Given the description of an element on the screen output the (x, y) to click on. 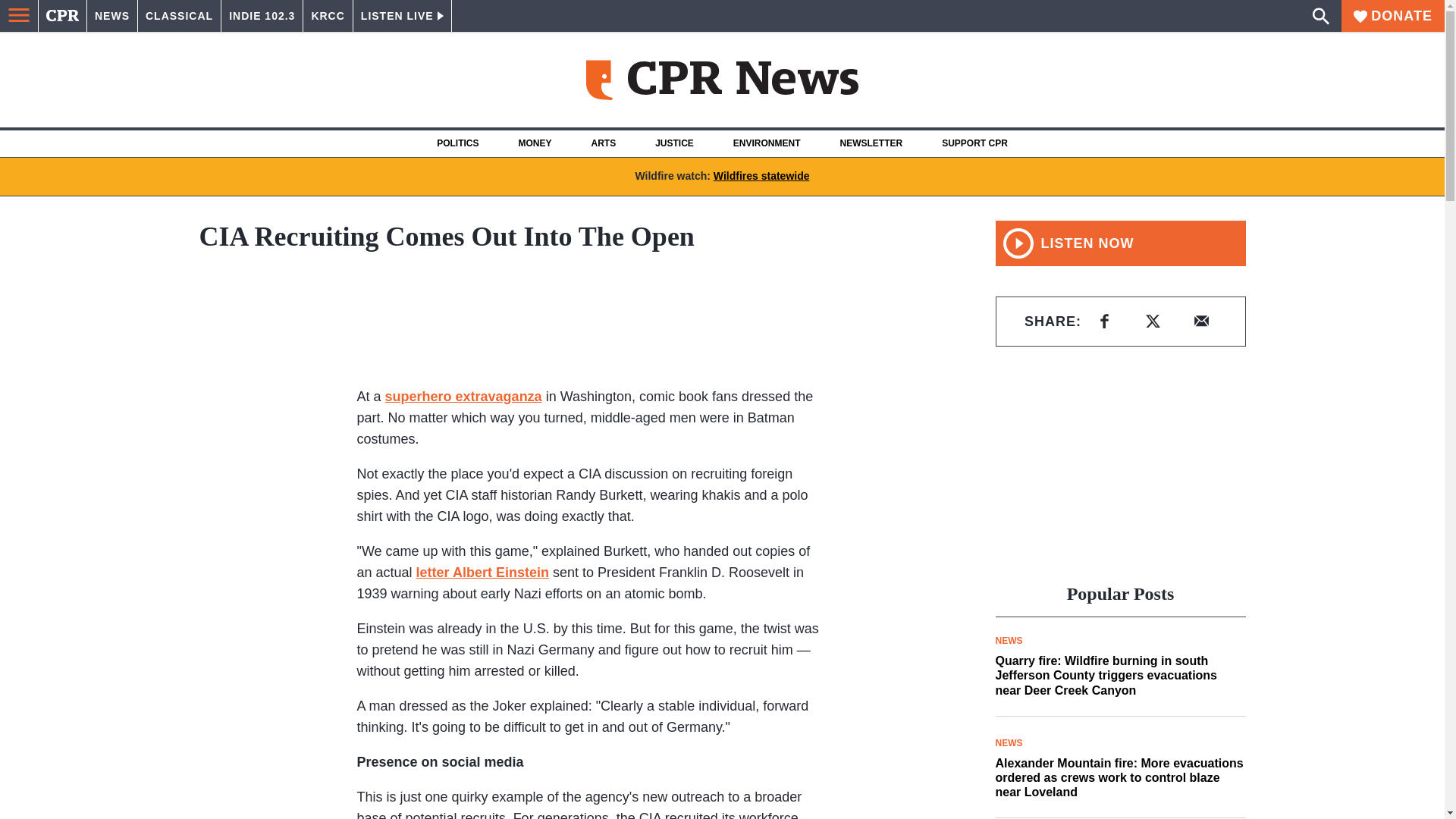
CLASSICAL (179, 15)
NEWS (111, 15)
KRCC (327, 15)
LISTEN LIVE (402, 15)
INDIE 102.3 (261, 15)
